Given the description of an element on the screen output the (x, y) to click on. 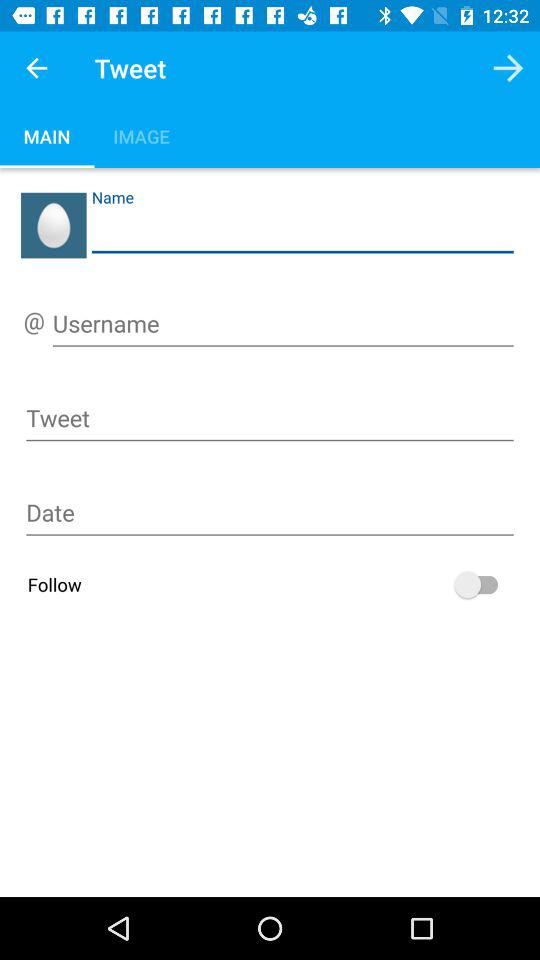
go to advertisement (270, 516)
